Given the description of an element on the screen output the (x, y) to click on. 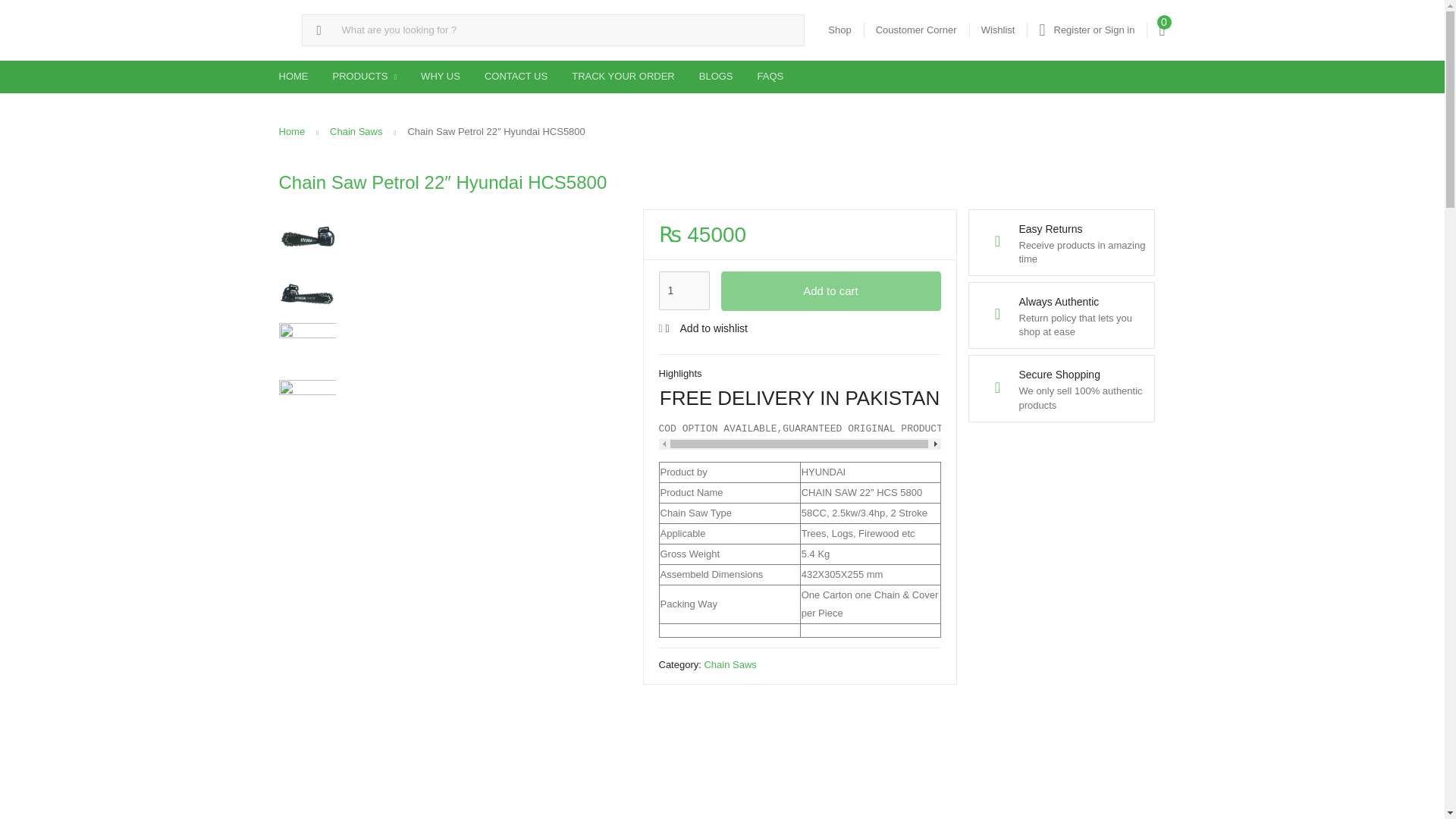
FAQS (770, 76)
BLOGS (716, 76)
CONTACT US (515, 76)
HOME (293, 76)
Register or Sign in (1086, 30)
Hyundai 2Stroke Back Side View (307, 351)
1 (683, 291)
Hyundai 2Stroke Left Side View (307, 294)
TRACK YOUR ORDER (623, 76)
WHY US (440, 76)
